Given the description of an element on the screen output the (x, y) to click on. 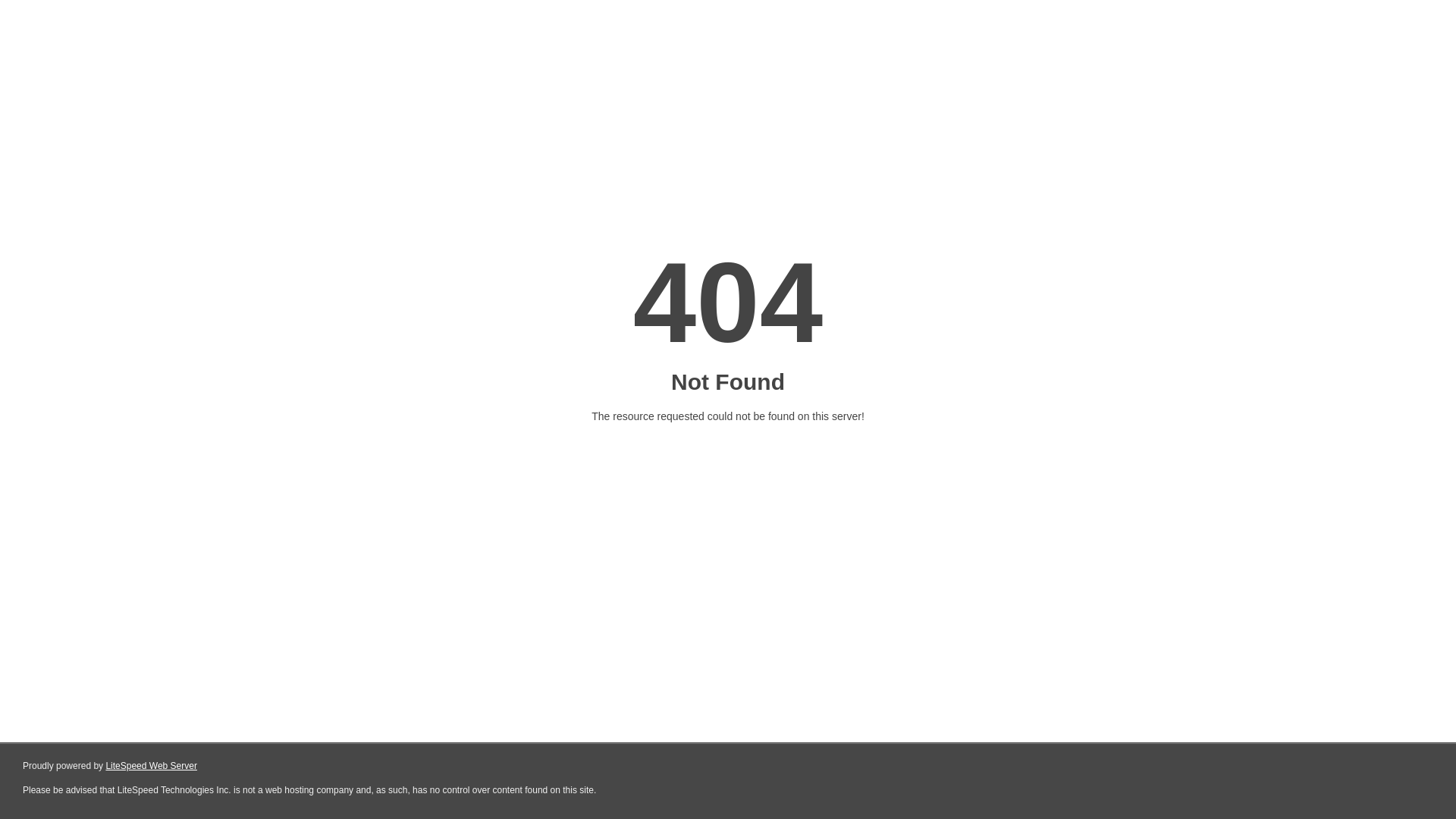
LiteSpeed Web Server Element type: text (151, 765)
